Given the description of an element on the screen output the (x, y) to click on. 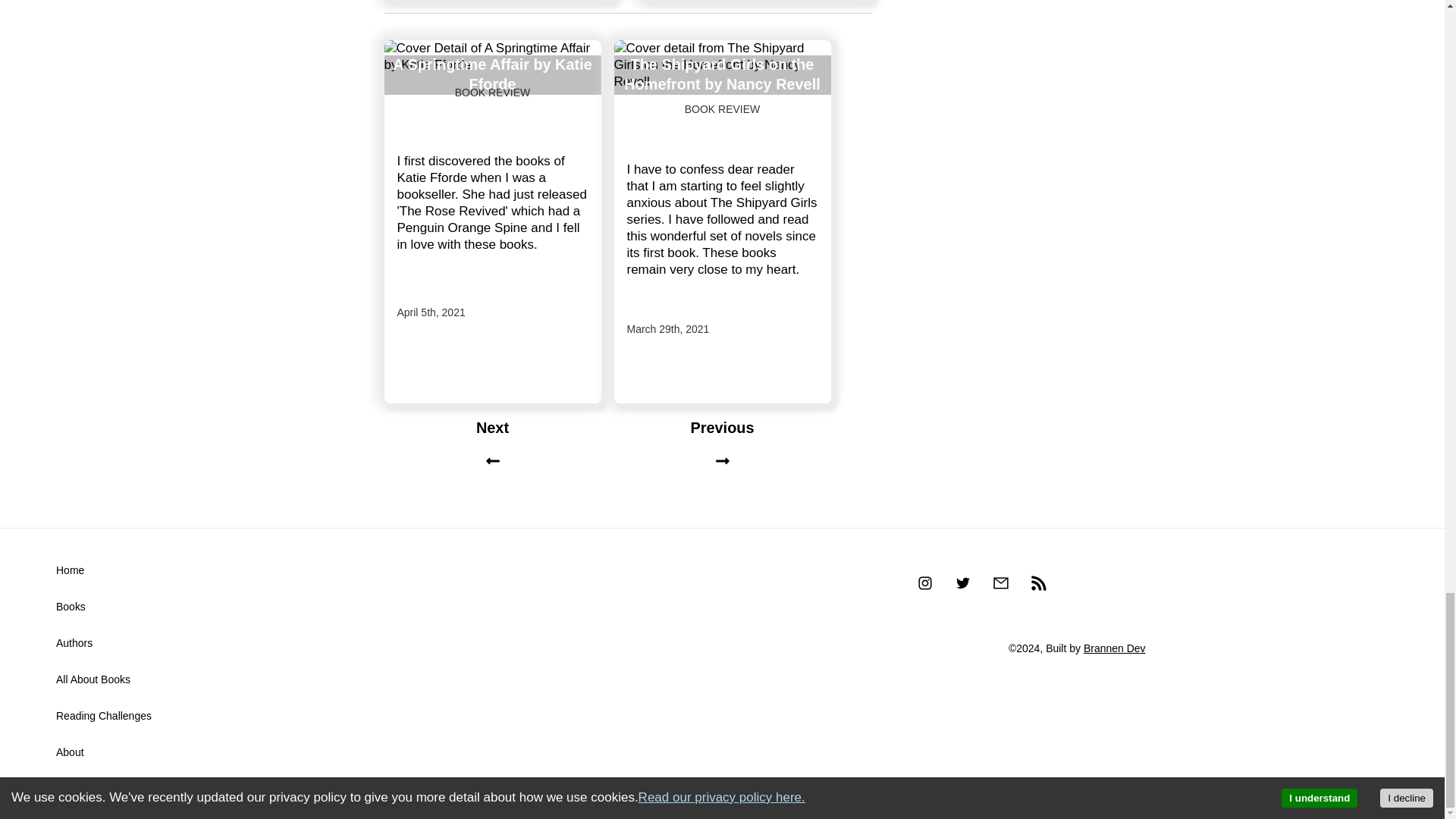
Next (491, 445)
